Given the description of an element on the screen output the (x, y) to click on. 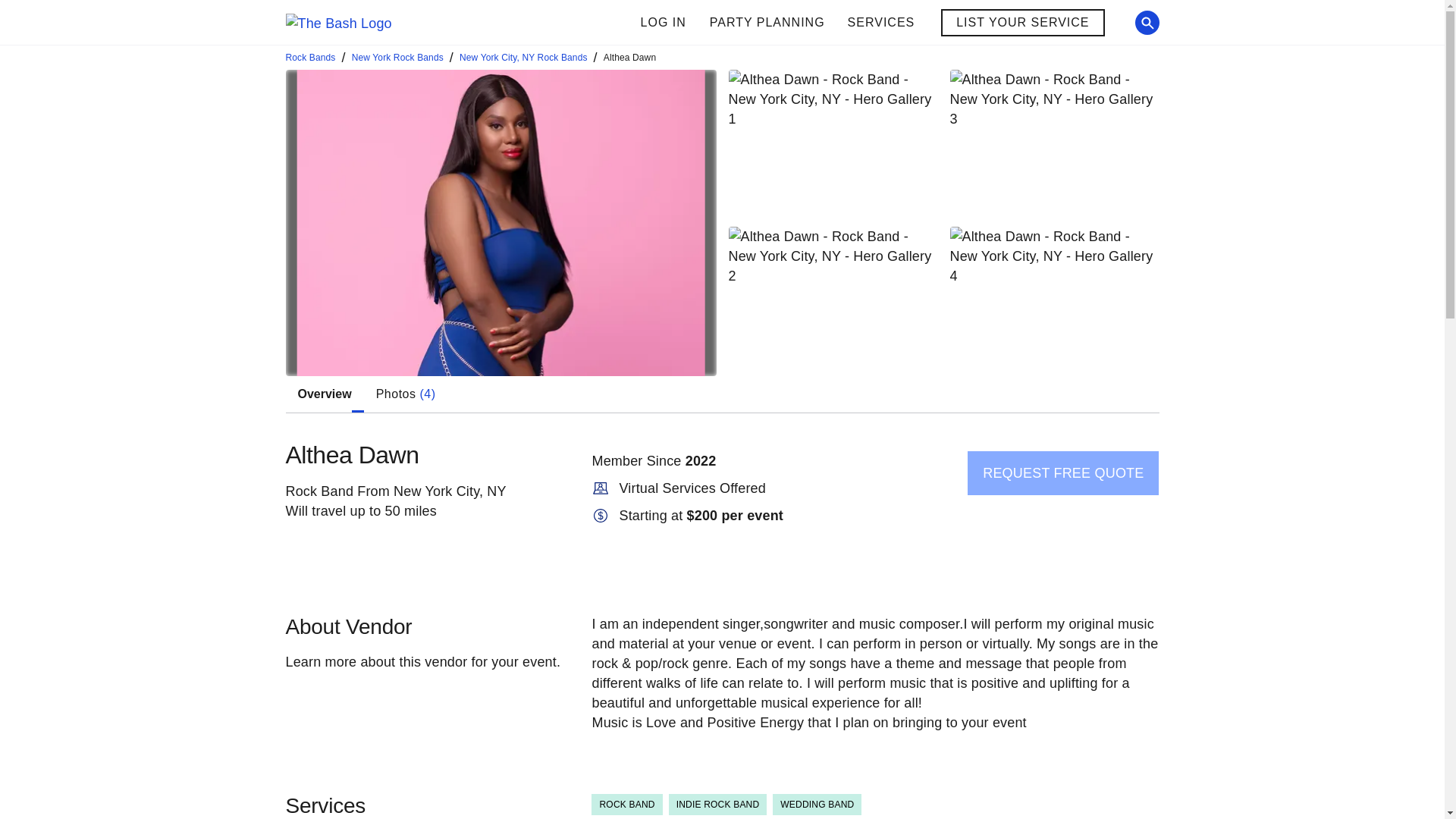
LOG IN (662, 22)
LIST YOUR SERVICE (812, 22)
